Given the description of an element on the screen output the (x, y) to click on. 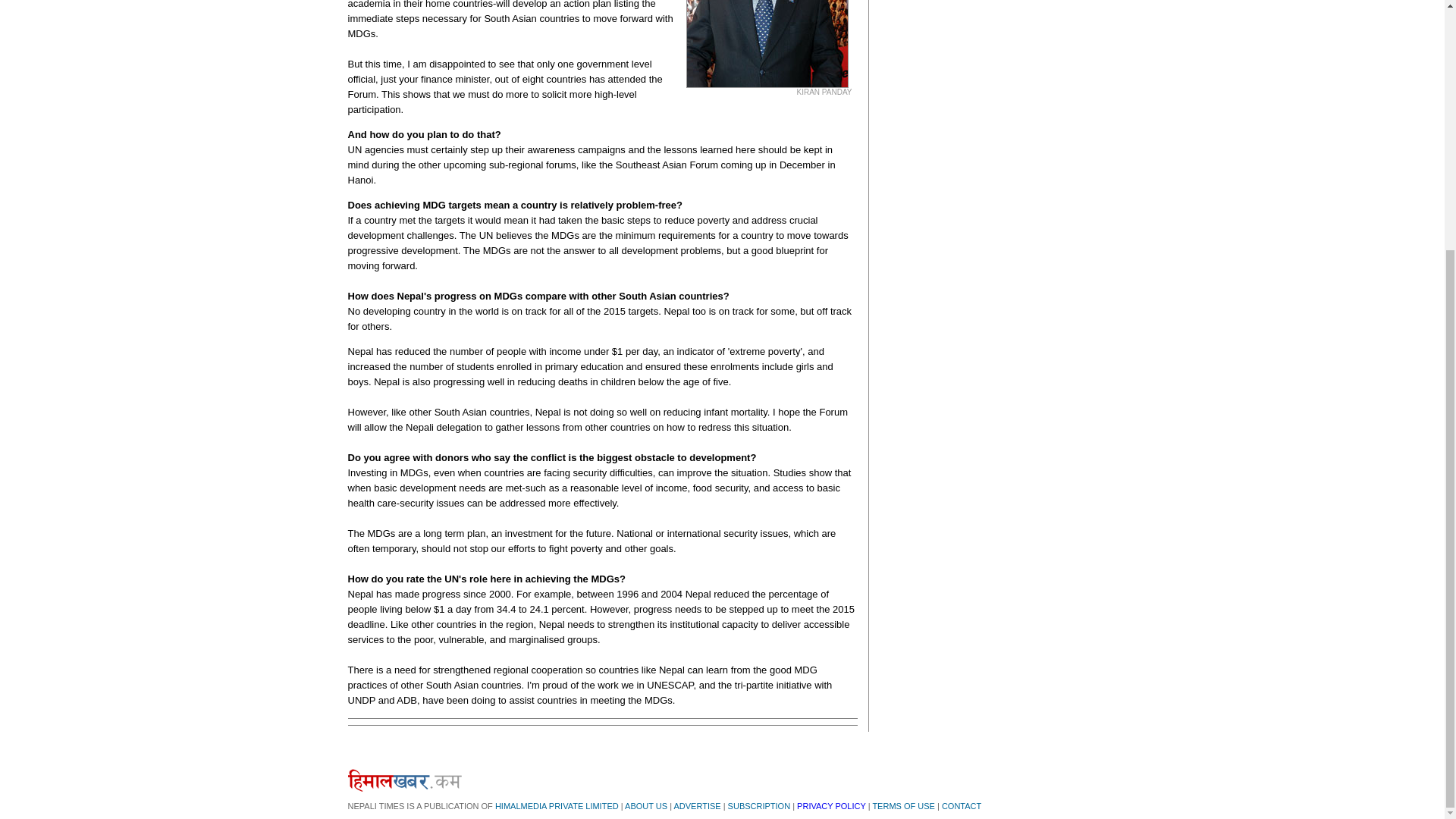
TERMS OF USE (903, 805)
CONTACT (961, 805)
ABOUT US (645, 805)
HIMALMEDIA PRIVATE LIMITED (556, 805)
SUBSCRIPTION (759, 805)
PRIVACY POLICY (830, 805)
ADVERTISE (696, 805)
himalkhabar.com (404, 780)
